Given the description of an element on the screen output the (x, y) to click on. 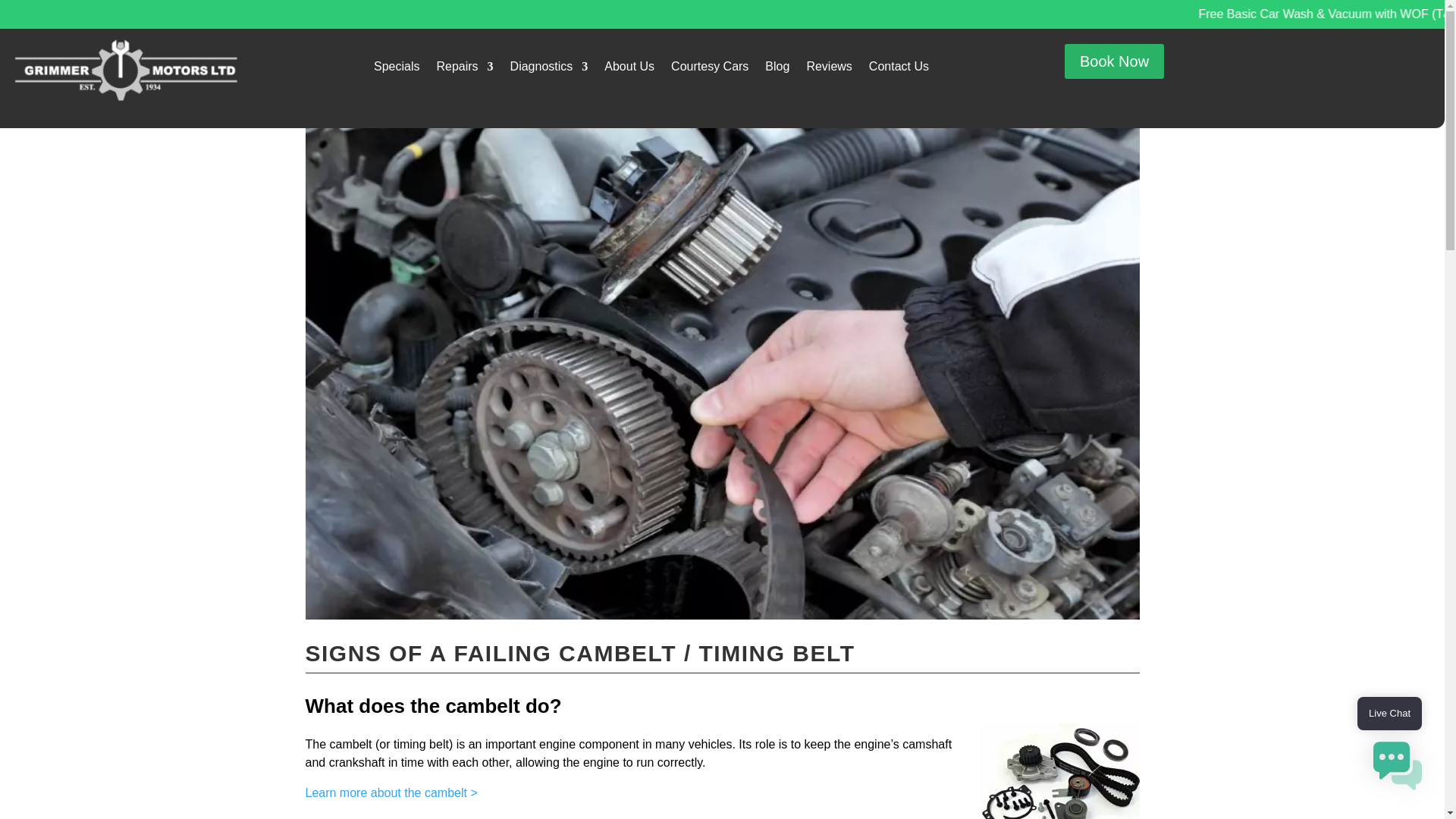
Courtesy Cars (709, 69)
About Us (628, 69)
Diagnostics (549, 69)
Reviews (828, 69)
Specials (396, 69)
Repairs (464, 69)
Blog (777, 69)
